Given the description of an element on the screen output the (x, y) to click on. 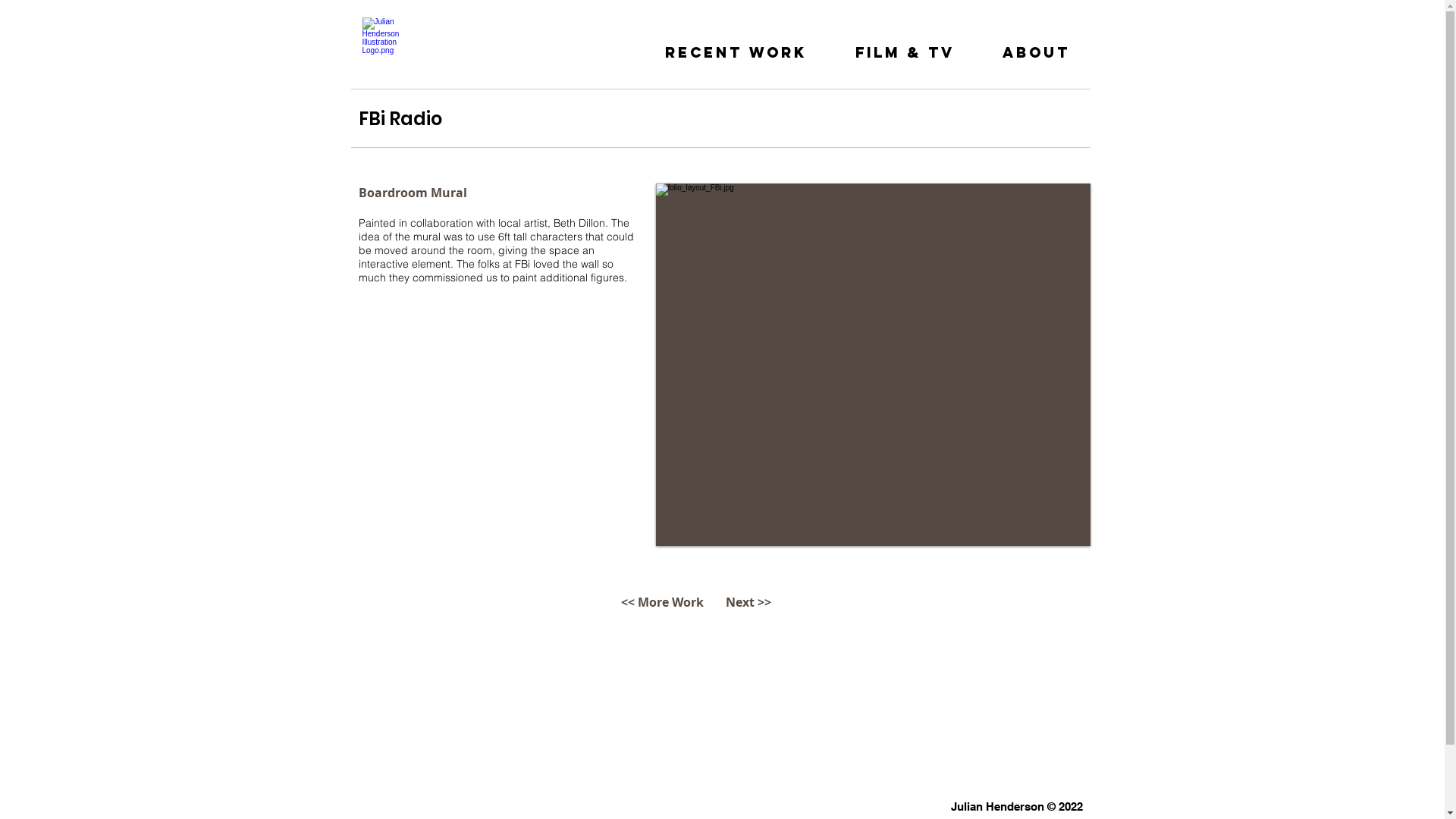
Facebook Like Element type: hover (975, 162)
FILM & TV Element type: text (905, 45)
<< More Work Element type: text (661, 602)
Twitter Tweet Element type: hover (1040, 162)
About Element type: text (1035, 45)
Next >> Element type: text (748, 602)
RECENT WORK Element type: text (735, 45)
